Given the description of an element on the screen output the (x, y) to click on. 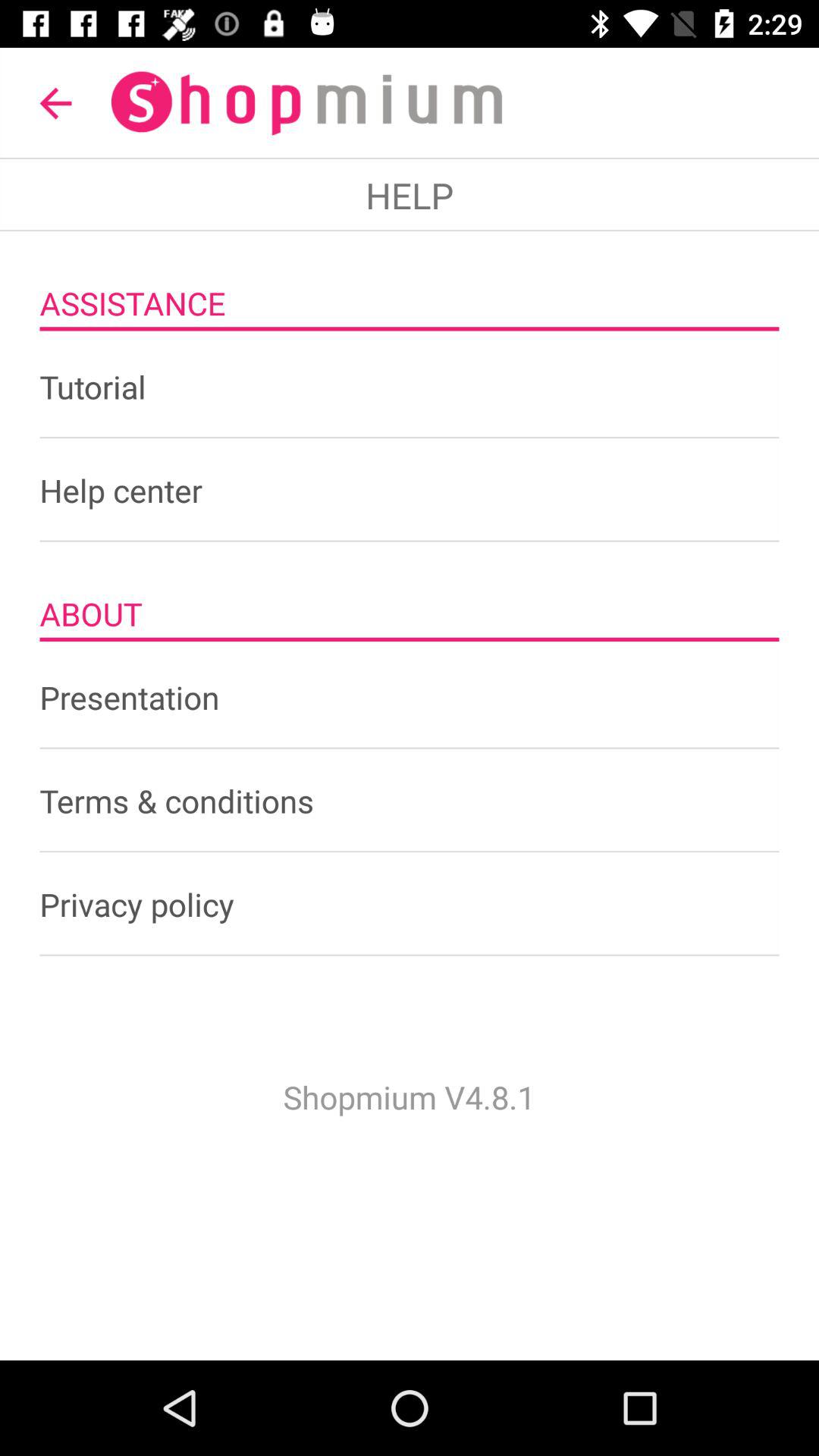
flip until the tutorial icon (409, 386)
